Given the description of an element on the screen output the (x, y) to click on. 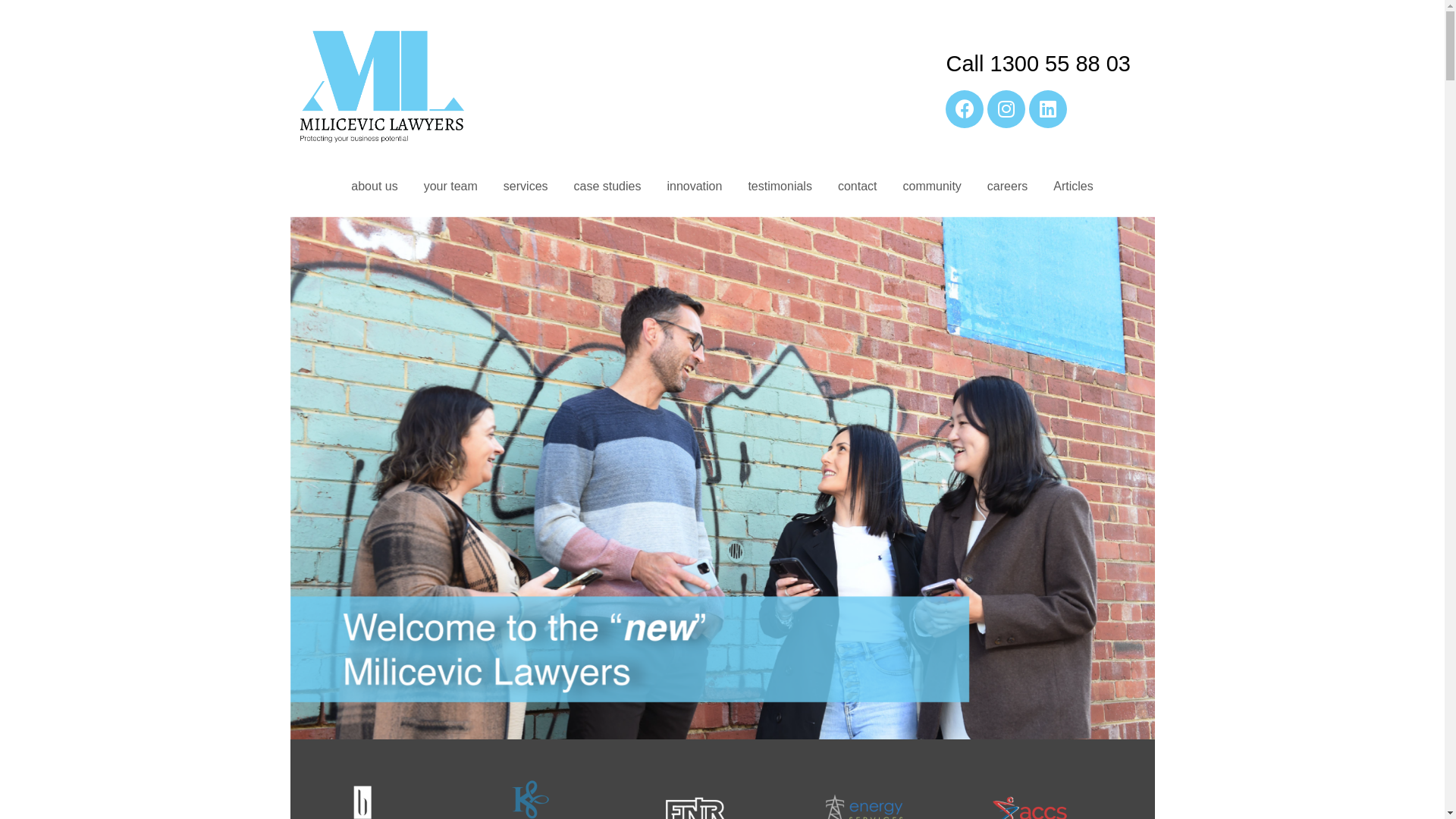
services Element type: text (525, 187)
contact Element type: text (857, 187)
Articles Element type: text (1073, 187)
community Element type: text (931, 187)
testimonials Element type: text (779, 187)
innovation Element type: text (694, 187)
careers Element type: text (1007, 187)
your team Element type: text (450, 187)
about us Element type: text (373, 187)
case studies Element type: text (607, 187)
